Given the description of an element on the screen output the (x, y) to click on. 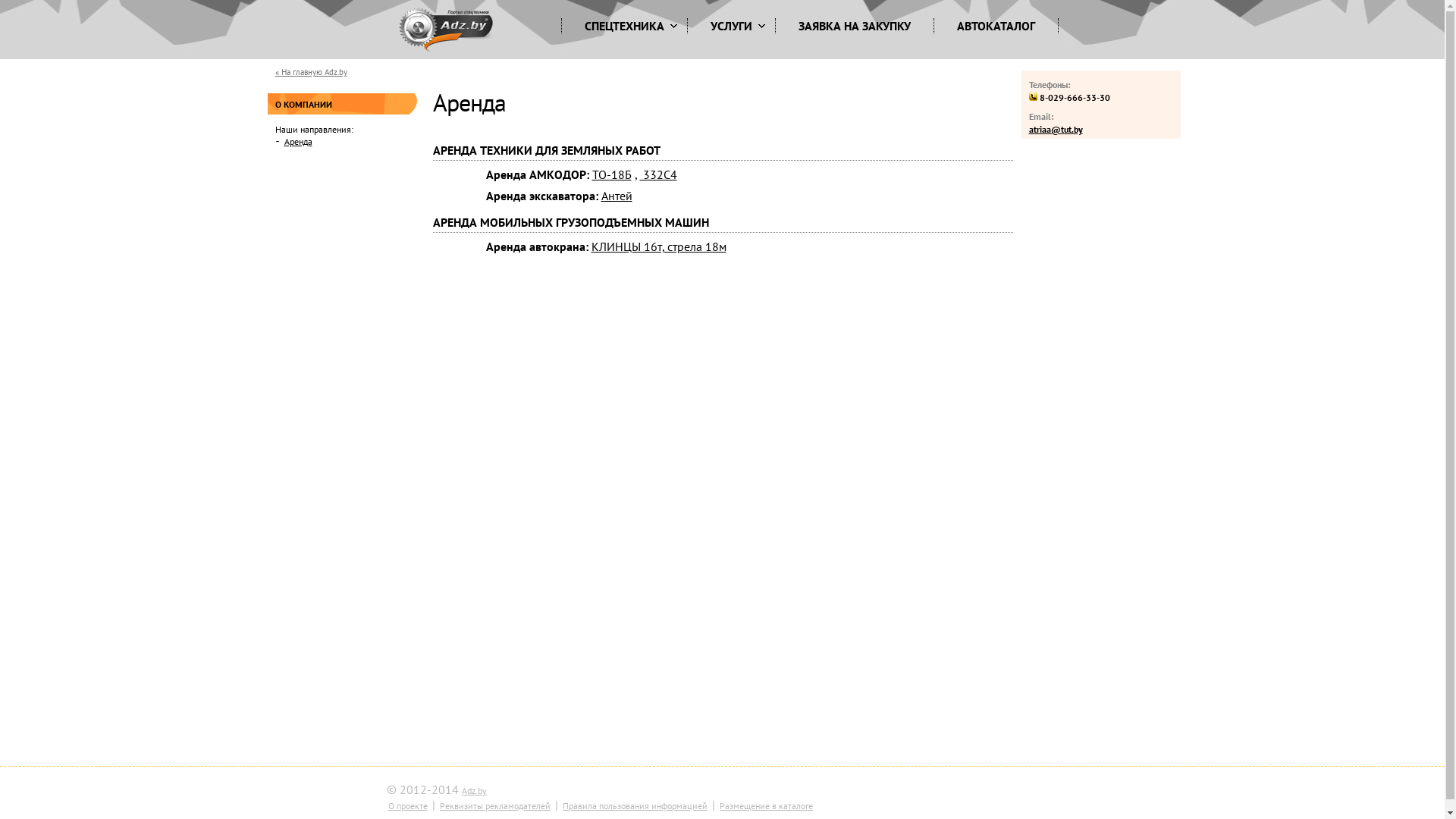
Advertisement Element type: hover (327, 407)
atriaa@tut.by Element type: text (1055, 128)
Adz.by Element type: text (473, 790)
Advertisement Element type: hover (1081, 380)
